Given the description of an element on the screen output the (x, y) to click on. 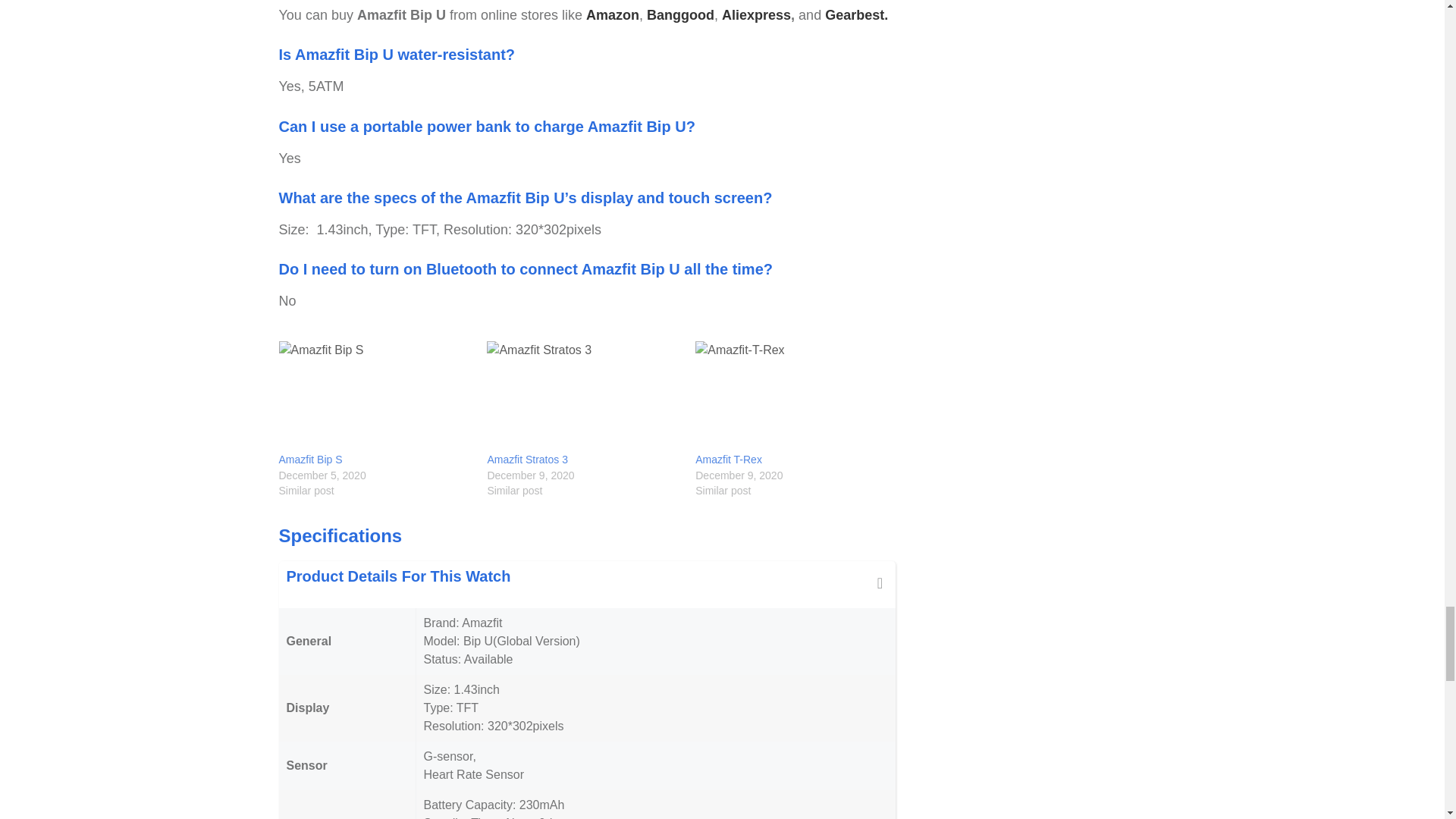
Amazfit Bip S (310, 459)
Amazfit T-Rex (728, 459)
Amazfit Stratos 3 (526, 459)
Amazfit T-Rex (791, 396)
Amazfit Stratos 3 (582, 396)
Amazfit Bip S (375, 396)
